Given the description of an element on the screen output the (x, y) to click on. 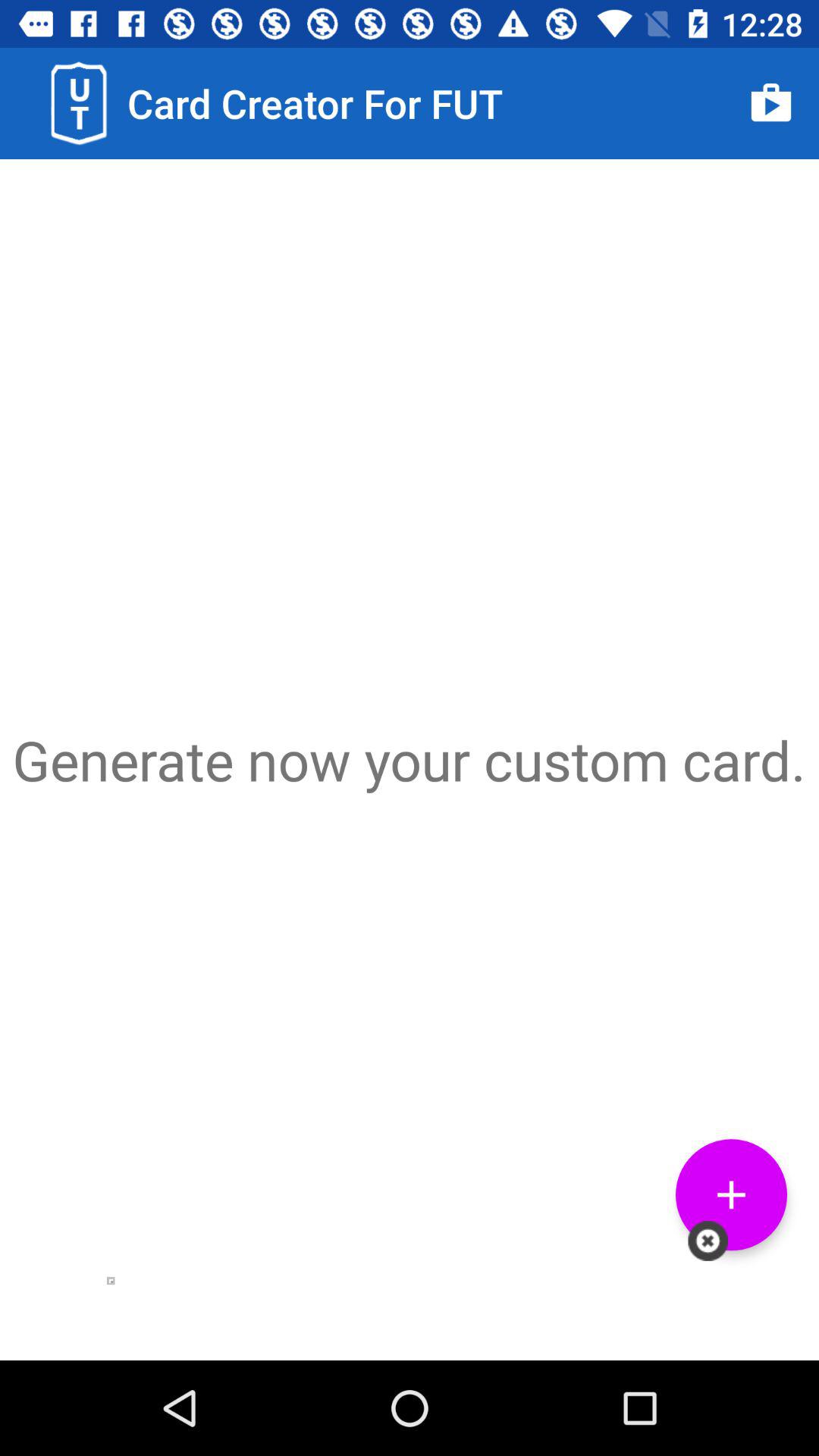
turn off the app next to the card creator for icon (771, 103)
